Given the description of an element on the screen output the (x, y) to click on. 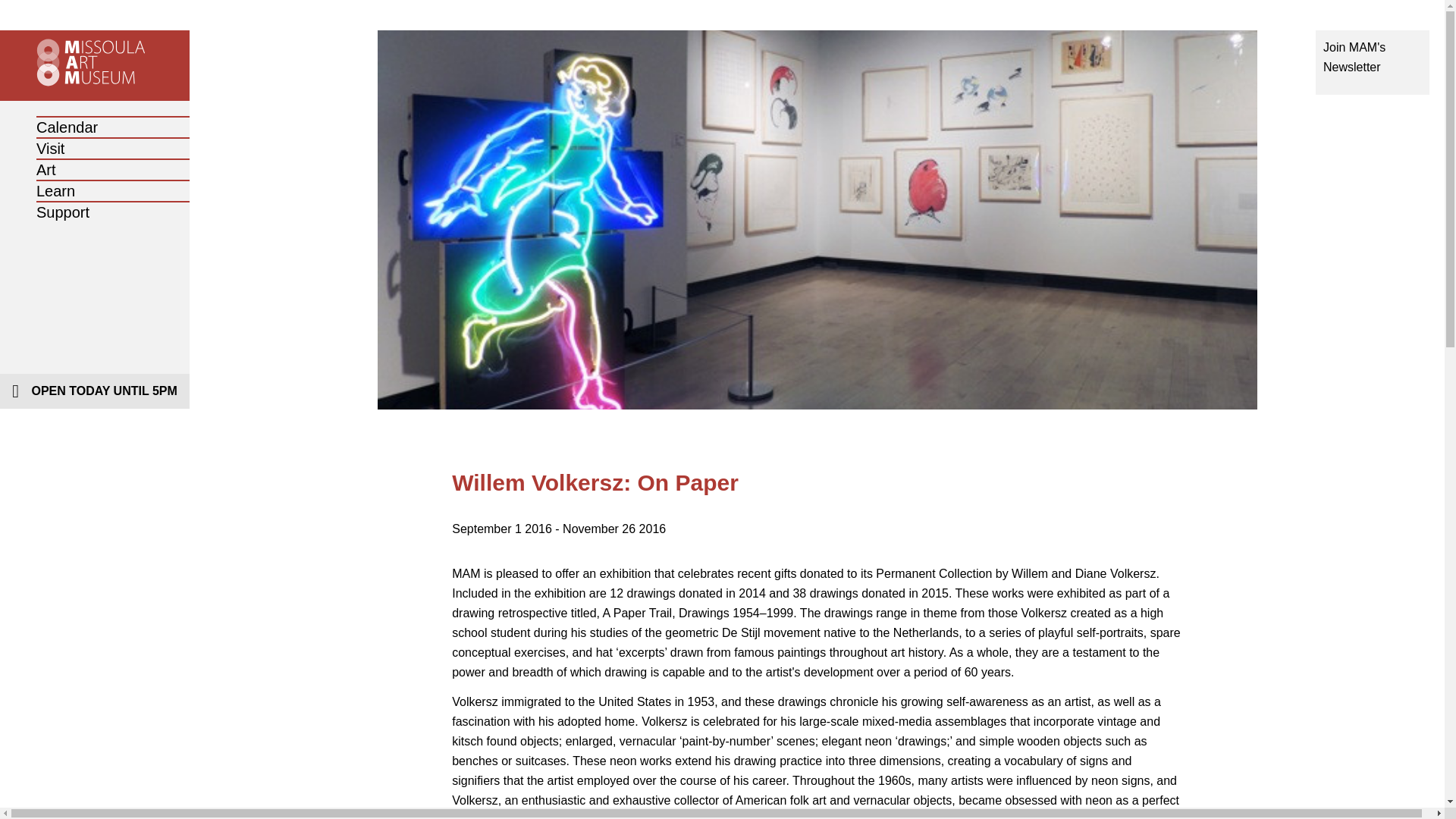
Support (62, 211)
Contact (92, 240)
Art (46, 169)
Learn (55, 190)
Welcome To MAM (153, 127)
Calendar (66, 126)
About (95, 198)
Visit (50, 148)
Tours (95, 176)
